Given the description of an element on the screen output the (x, y) to click on. 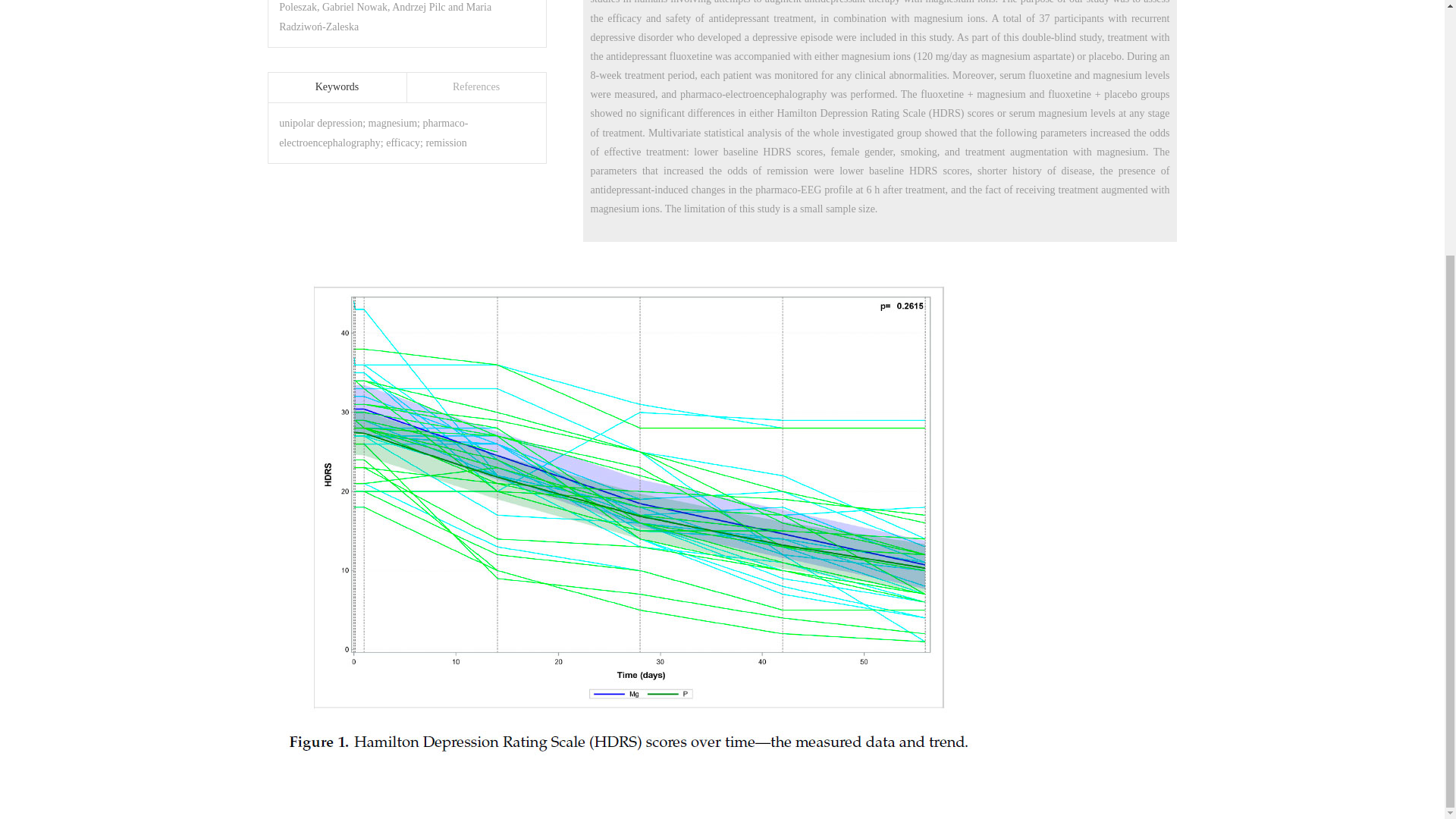
References (475, 87)
Keywords (336, 87)
